Given the description of an element on the screen output the (x, y) to click on. 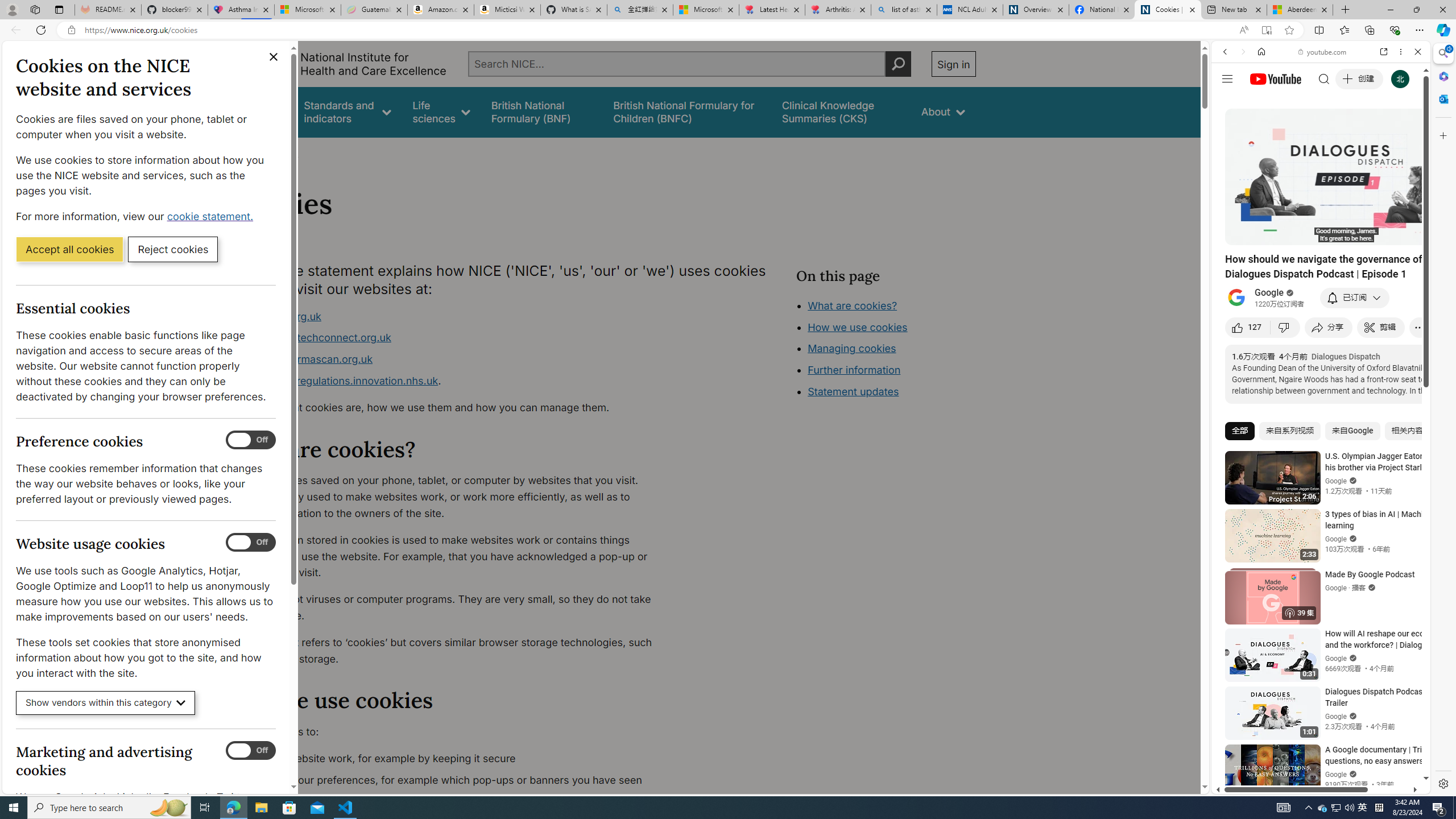
Search the web (1326, 78)
Close cookie banner (273, 56)
How we use cookies (857, 327)
VIDEOS (1300, 130)
false (841, 111)
www.ukpharmascan.org.uk (305, 359)
Web scope (1230, 102)
Search Filter, Search Tools (1350, 129)
